Given the description of an element on the screen output the (x, y) to click on. 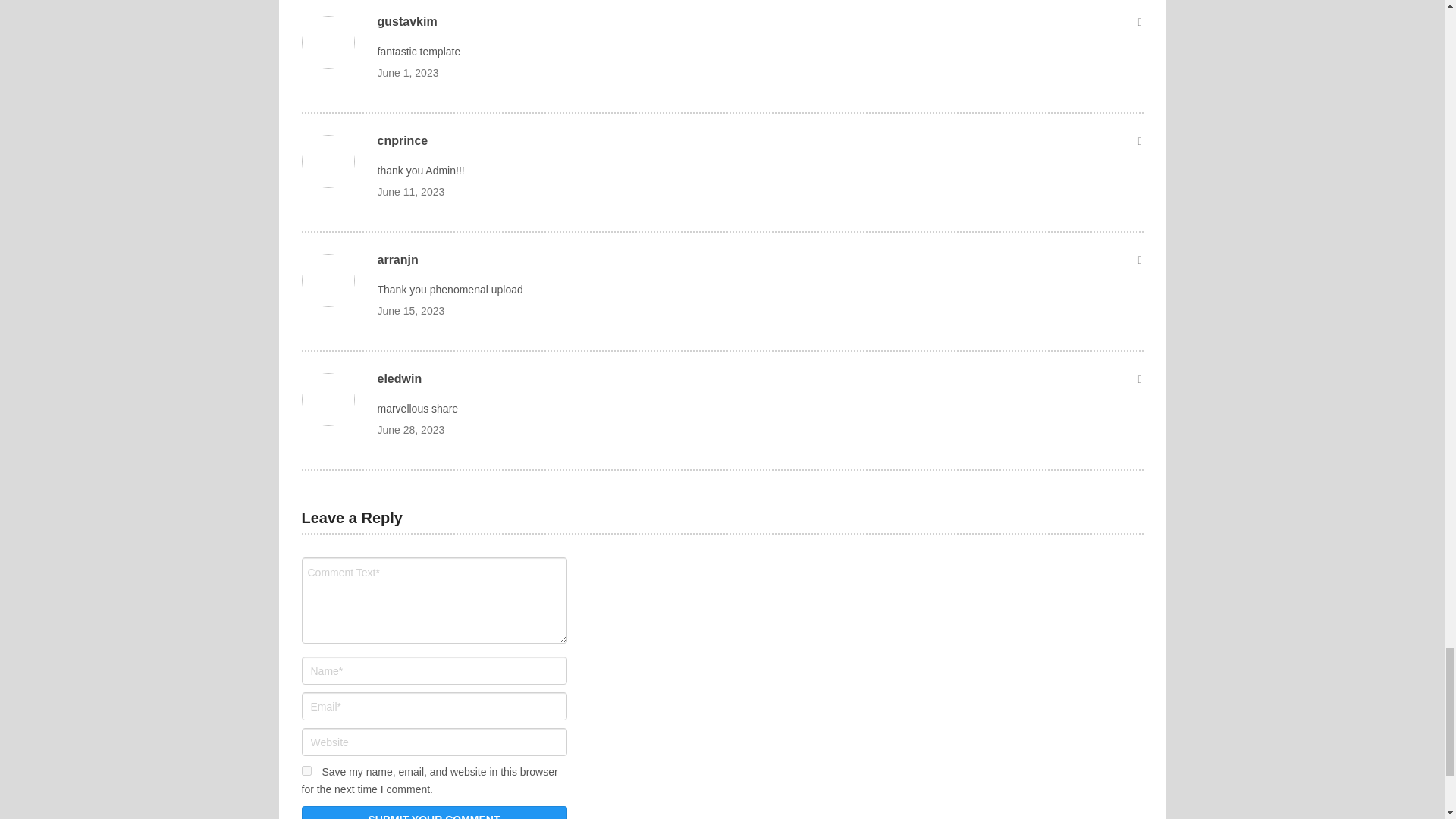
yes (306, 770)
Submit Your Comment (434, 812)
